Given the description of an element on the screen output the (x, y) to click on. 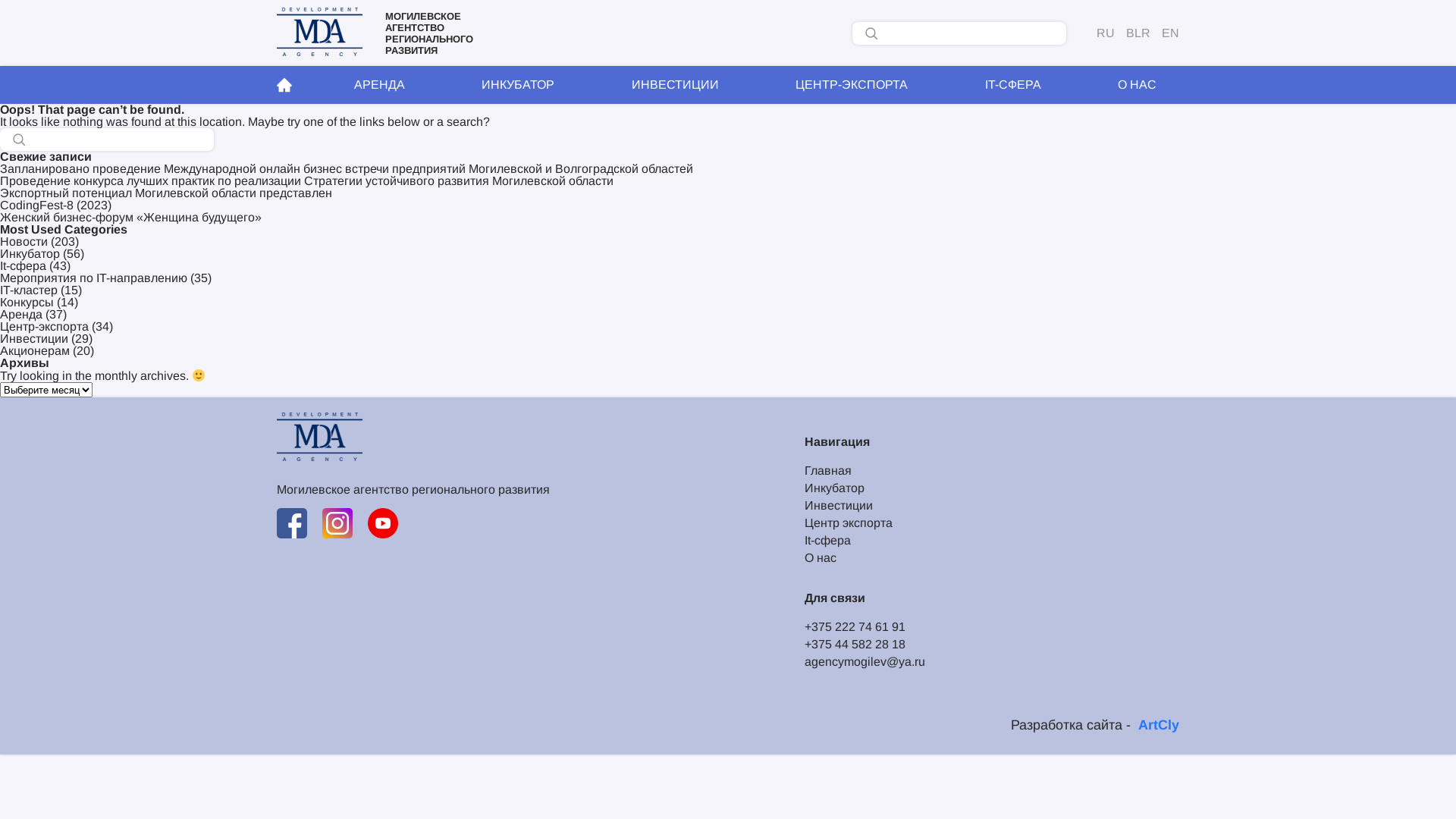
RU Element type: text (1105, 32)
EN Element type: text (1170, 32)
+375 222 74 61 91 Element type: text (863, 626)
ArtCly Element type: text (1158, 724)
BLR Element type: text (1138, 32)
CodingFest-8 (2023) Element type: text (55, 204)
agencymogilev@ya.ru Element type: text (863, 661)
+375 44 582 28 18 Element type: text (863, 644)
